Given the description of an element on the screen output the (x, y) to click on. 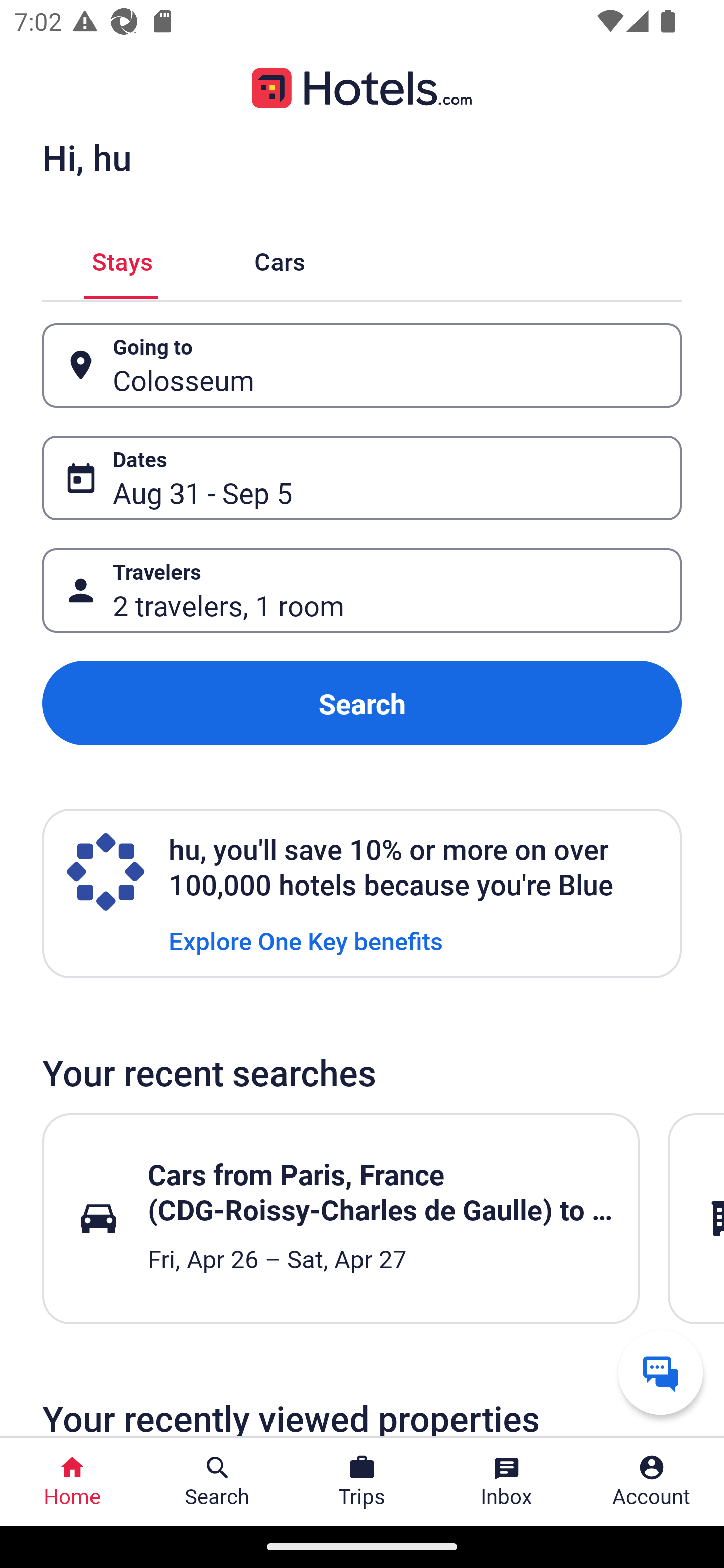
Hi, hu (86, 156)
Cars (279, 259)
Going to Button Colosseum (361, 365)
Dates Button Aug 31 - Sep 5 (361, 477)
Travelers Button 2 travelers, 1 room (361, 590)
Search (361, 702)
Get help from a virtual agent (660, 1371)
Search Search Button (216, 1481)
Trips Trips Button (361, 1481)
Inbox Inbox Button (506, 1481)
Account Profile. Button (651, 1481)
